Given the description of an element on the screen output the (x, y) to click on. 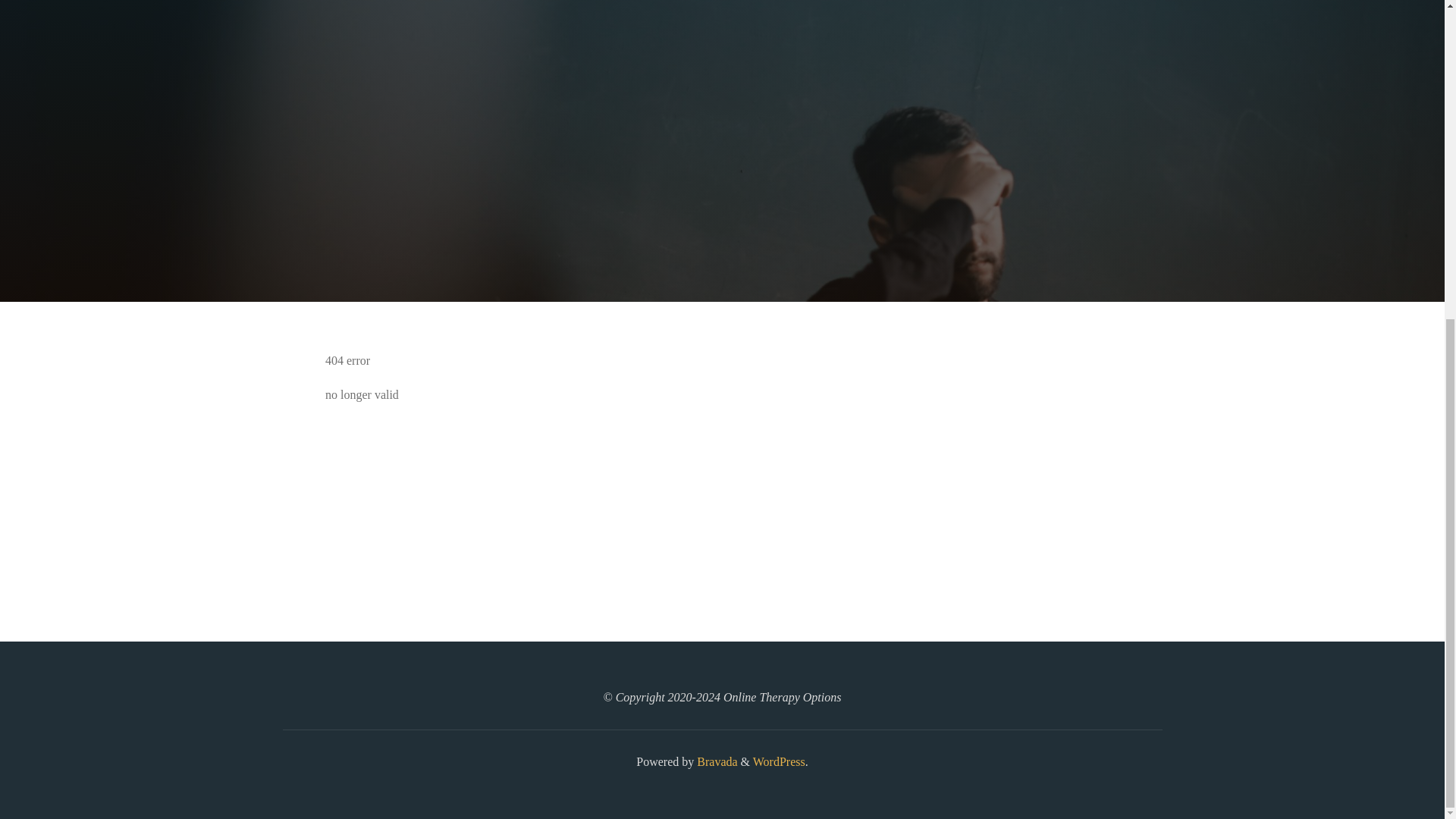
Bravada WordPress Theme by Cryout Creations (715, 761)
WordPress (778, 761)
Semantic Personal Publishing Platform (778, 761)
Read more (721, 207)
Bravada (715, 761)
